Given the description of an element on the screen output the (x, y) to click on. 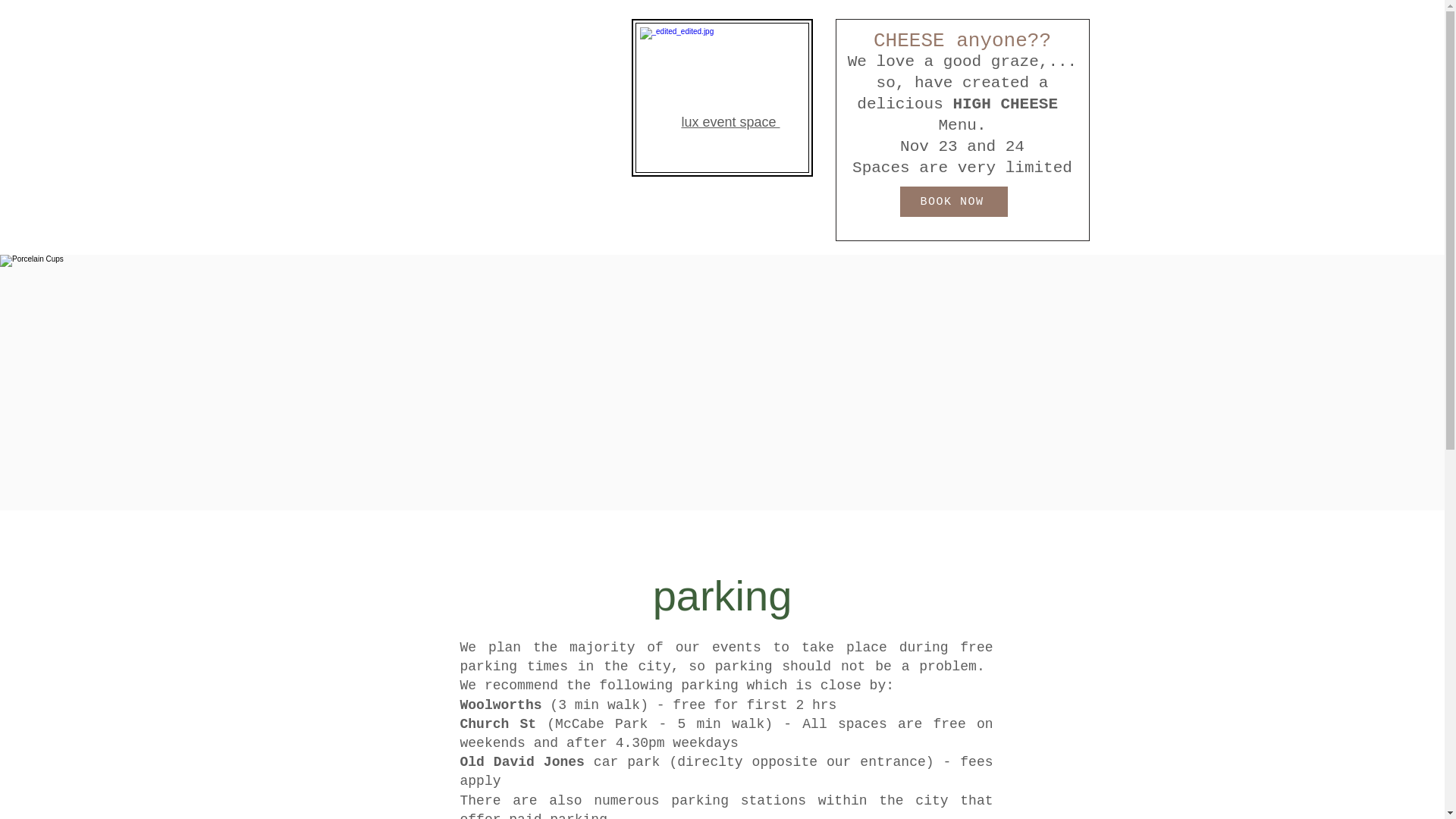
lux event space  (729, 122)
BOOK NOW (953, 201)
